Given the description of an element on the screen output the (x, y) to click on. 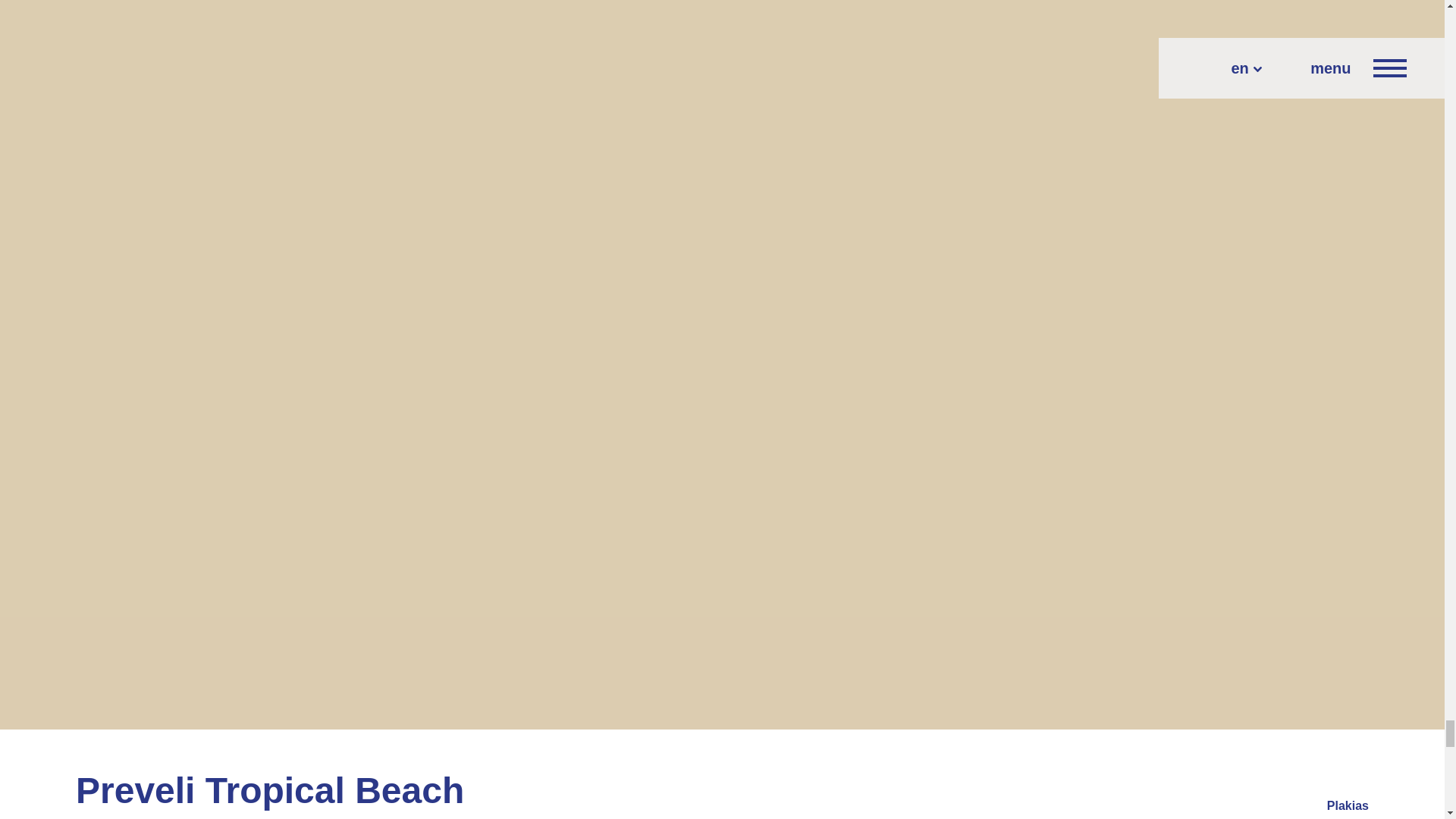
Plakias (1347, 805)
